Given the description of an element on the screen output the (x, y) to click on. 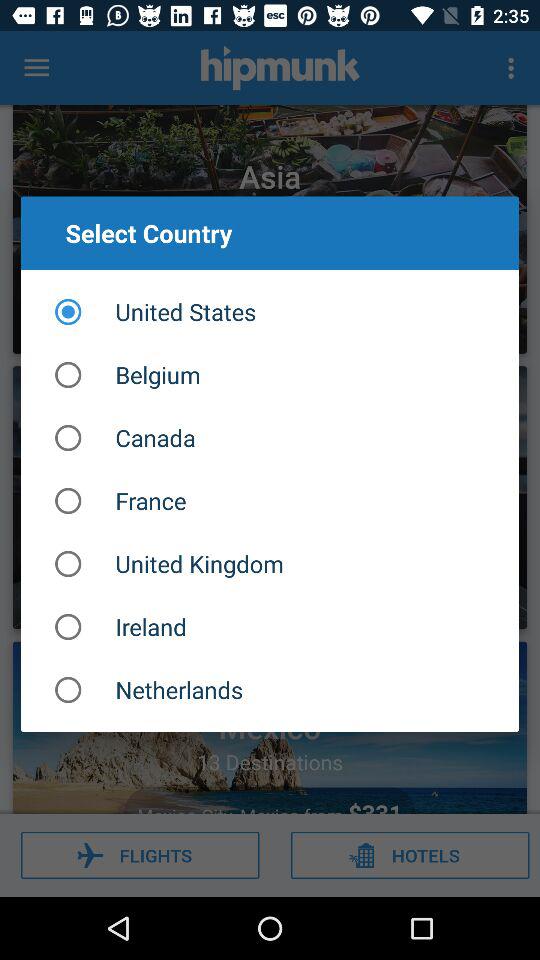
launch the item below the united states item (270, 374)
